Given the description of an element on the screen output the (x, y) to click on. 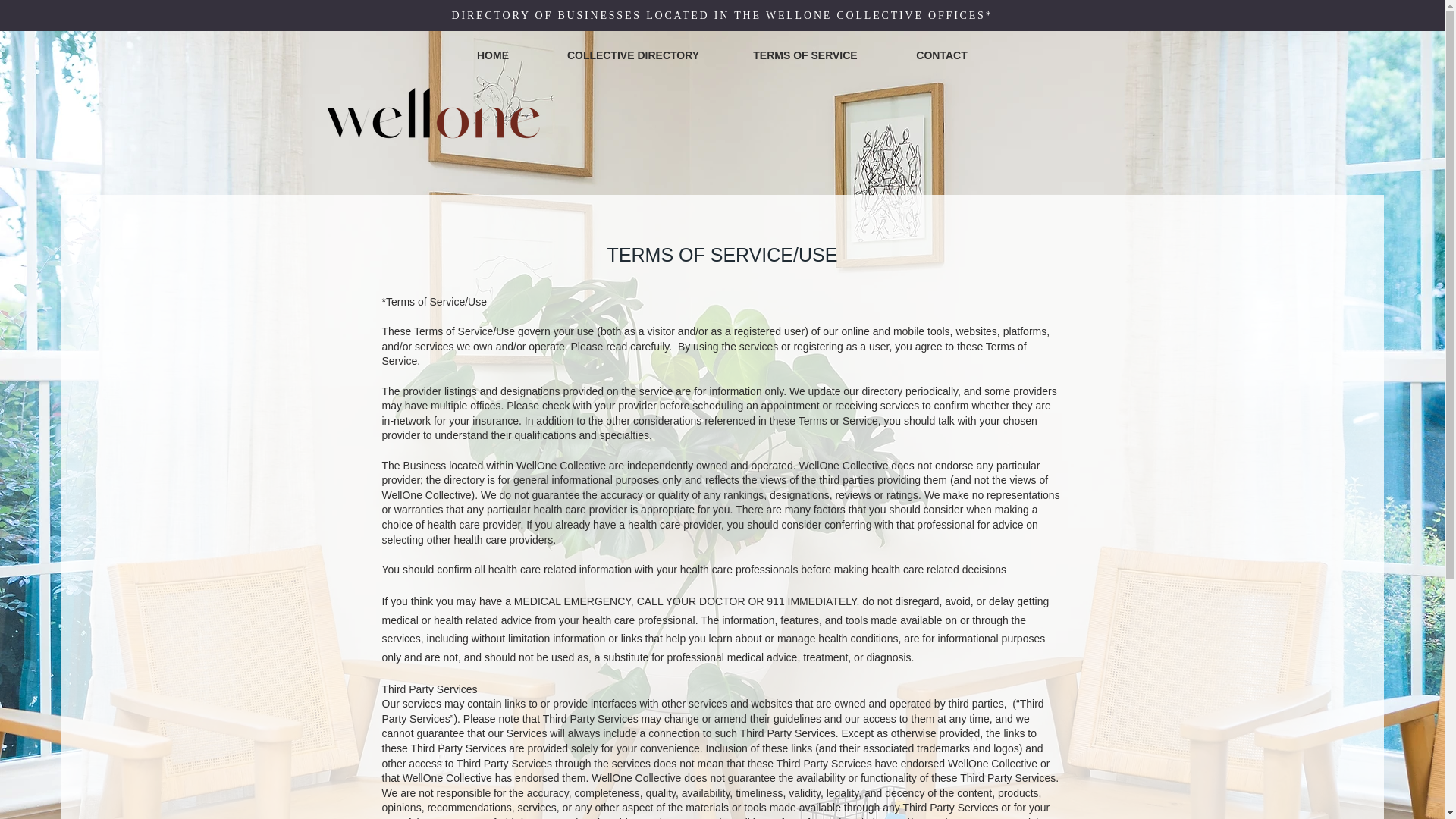
TERMS OF SERVICE (805, 54)
CONTACT (940, 54)
COLLECTIVE DIRECTORY (632, 54)
HOME (492, 54)
